Given the description of an element on the screen output the (x, y) to click on. 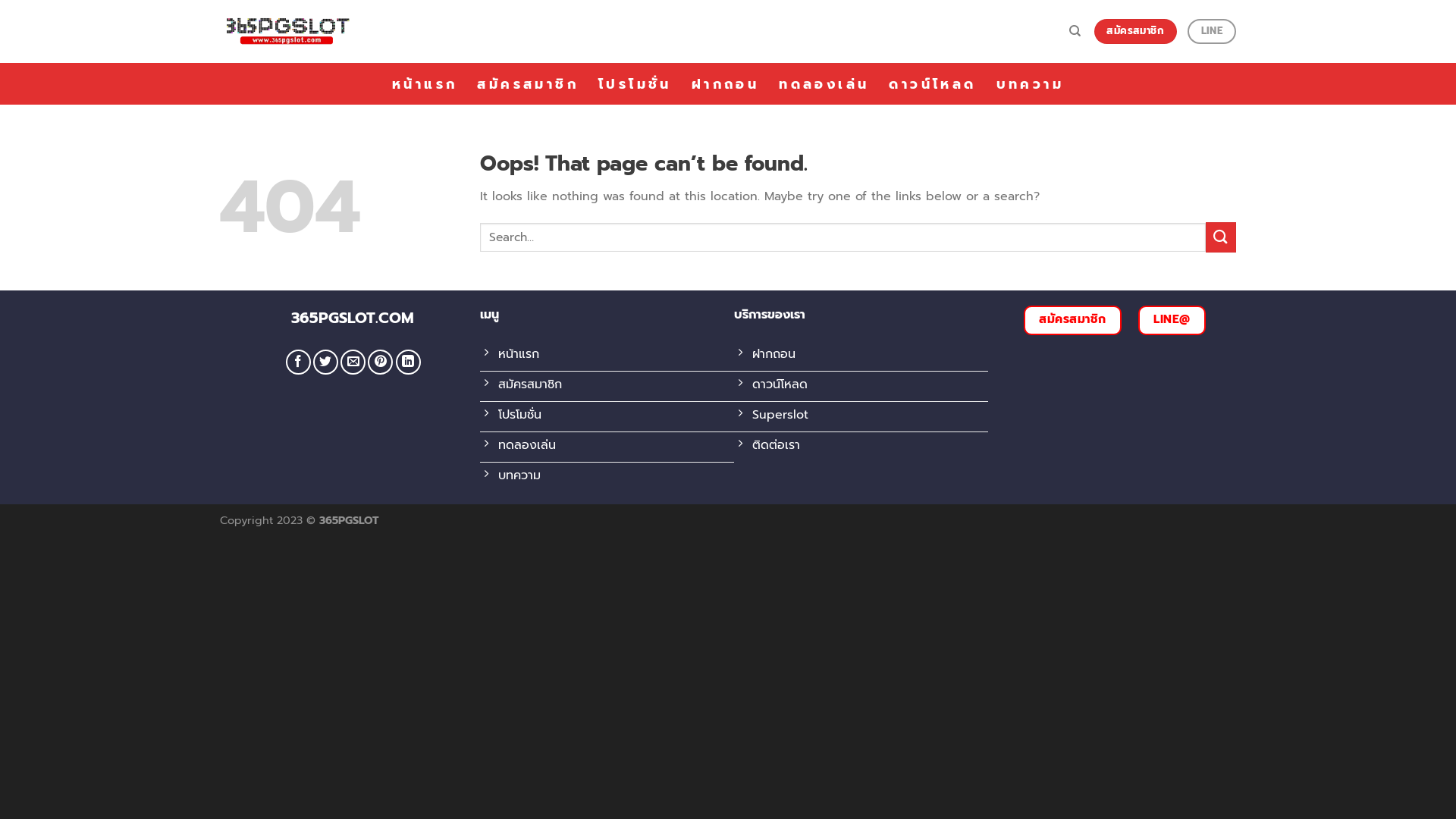
LINE Element type: text (1211, 30)
Share on LinkedIn Element type: hover (407, 361)
365pgslot.com - 365pgslot.com Element type: hover (286, 31)
Superslot Element type: text (861, 416)
LINE@ Element type: text (1172, 320)
Share on Twitter Element type: hover (325, 361)
Email to a Friend Element type: hover (352, 361)
Pin on Pinterest Element type: hover (379, 361)
Share on Facebook Element type: hover (297, 361)
